Given the description of an element on the screen output the (x, y) to click on. 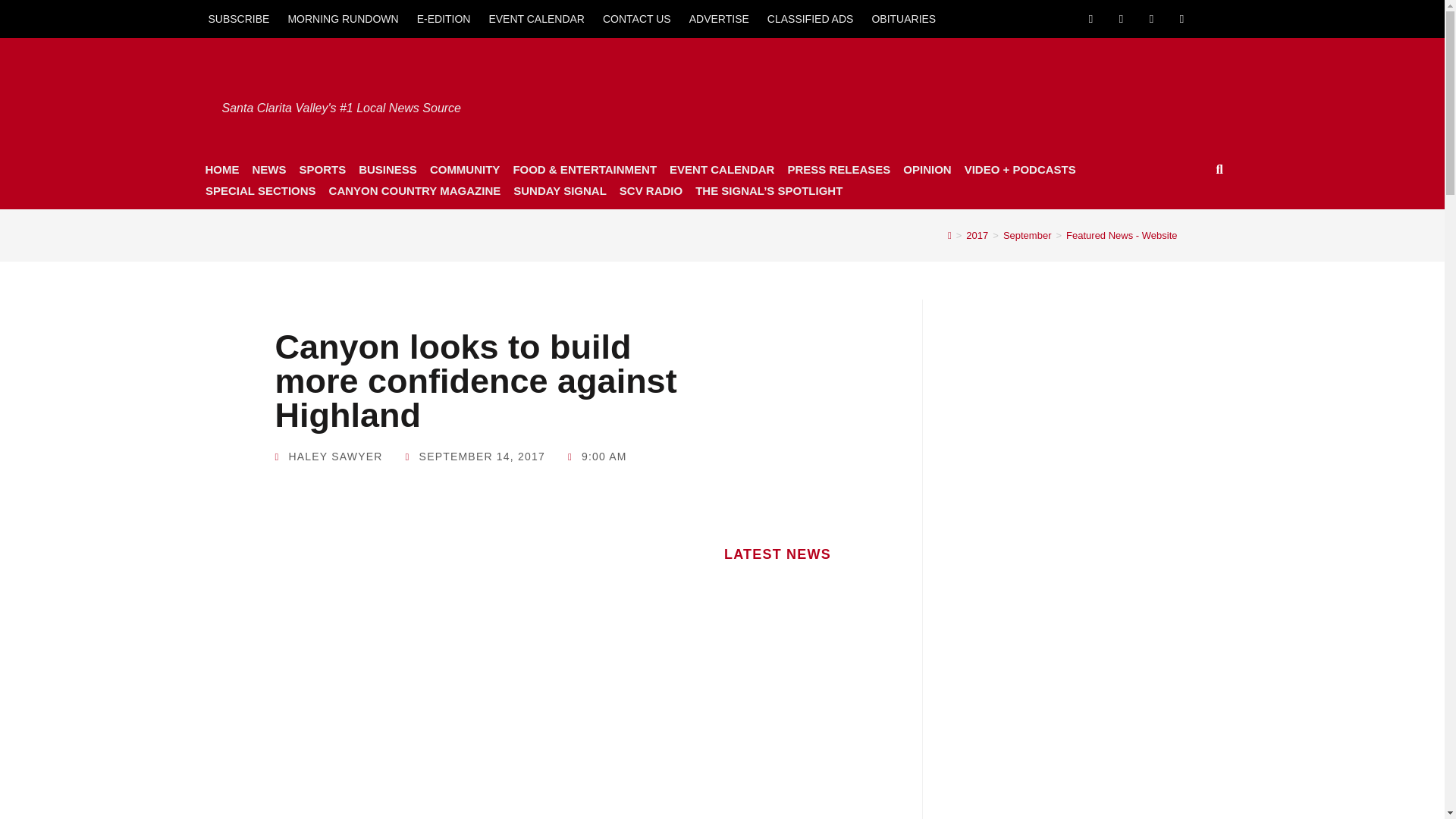
SUBSCRIBE (238, 18)
EVENT CALENDAR (536, 18)
SPORTS (322, 169)
MORNING RUNDOWN (342, 18)
CONTACT US (636, 18)
E-EDITION (443, 18)
CLASSIFIED ADS (810, 18)
NEWS (269, 169)
OBITUARIES (902, 18)
HOME (221, 169)
ADVERTISE (718, 18)
